Given the description of an element on the screen output the (x, y) to click on. 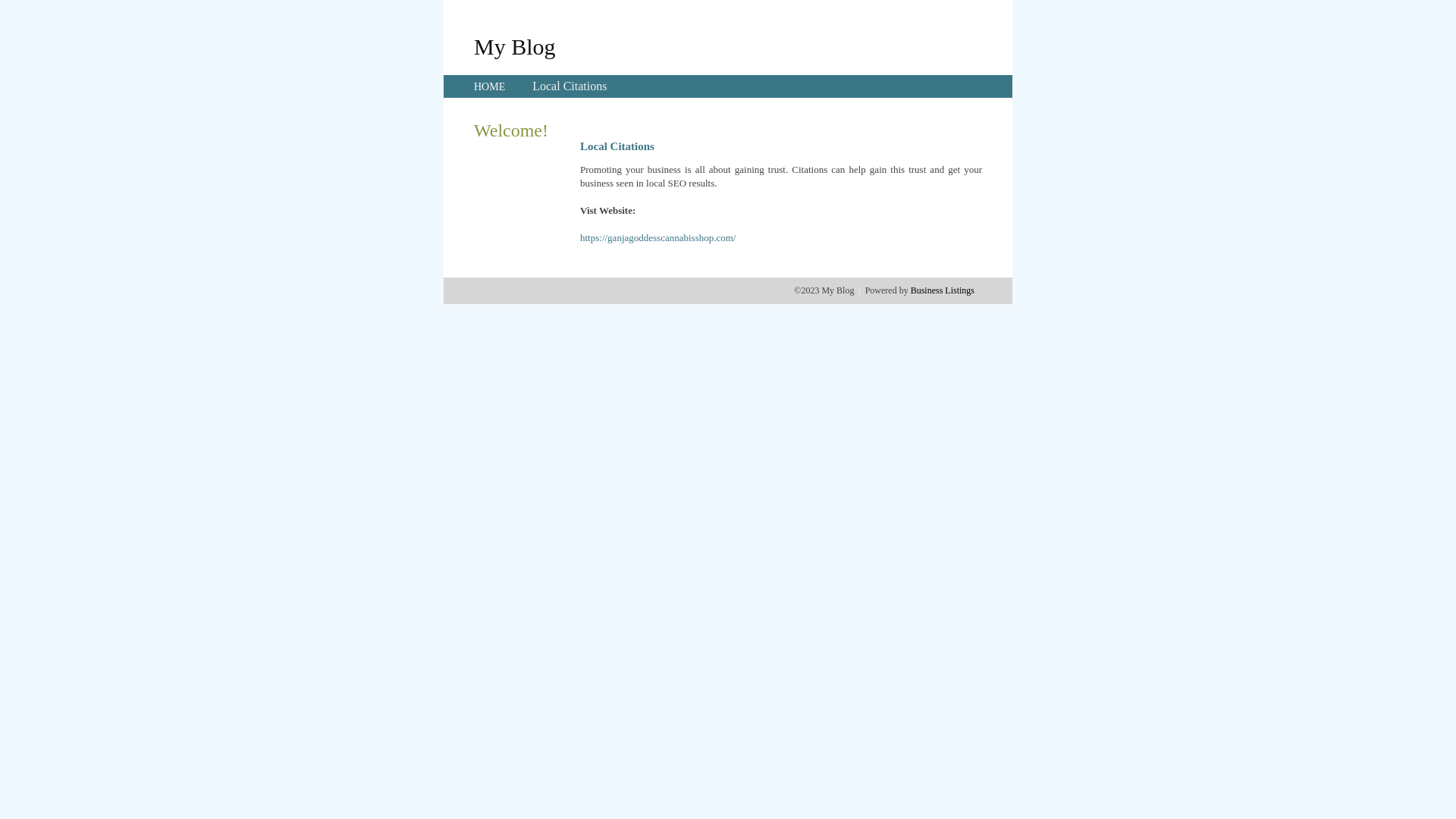
My Blog Element type: text (514, 46)
HOME Element type: text (489, 86)
Local Citations Element type: text (569, 85)
https://ganjagoddesscannabisshop.com/ Element type: text (657, 237)
Business Listings Element type: text (942, 290)
